Given the description of an element on the screen output the (x, y) to click on. 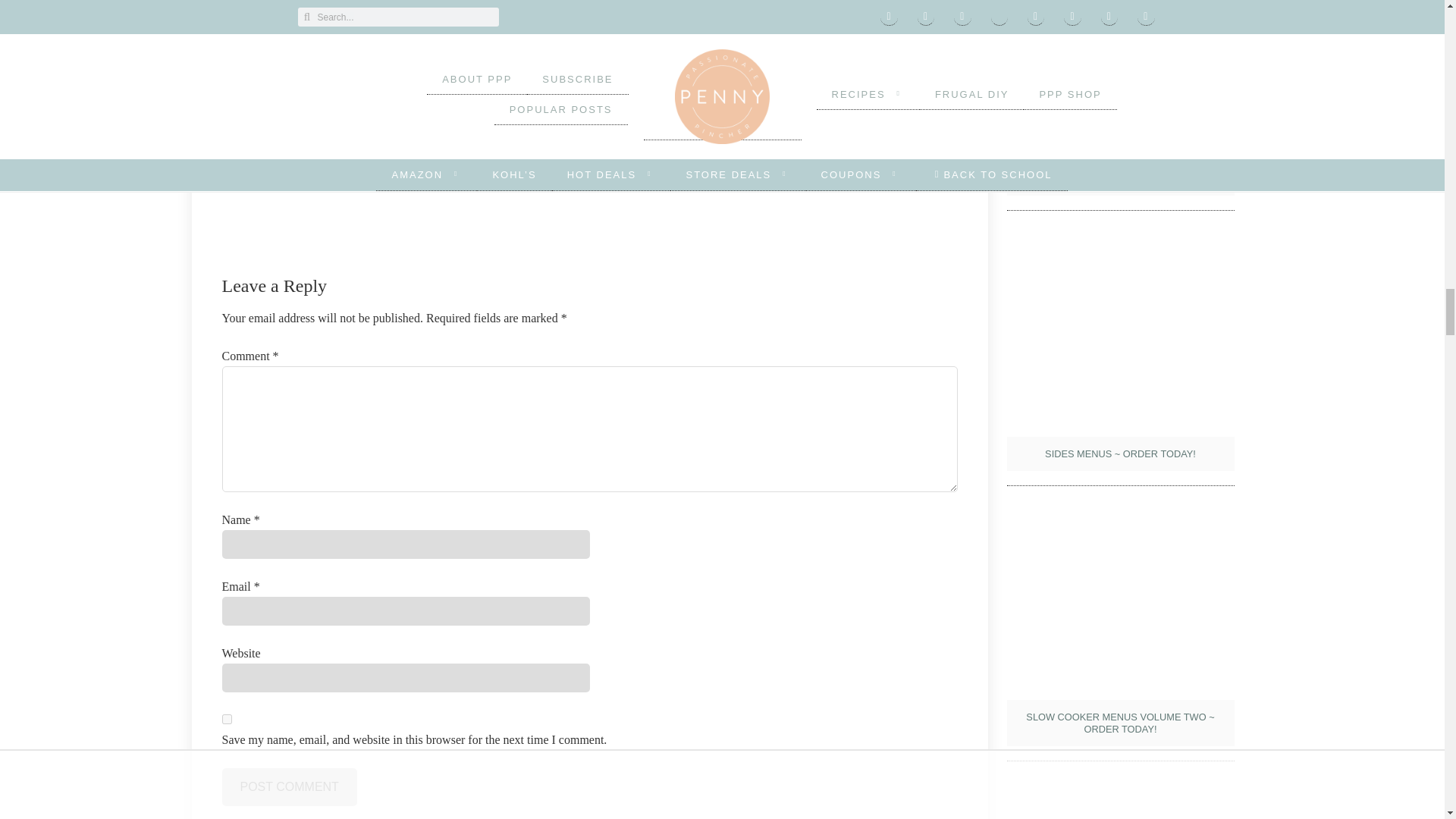
yes (226, 718)
Screen Shot 2013-10-16 at 9.23.53 AM (589, 113)
Post Comment (288, 786)
